Given the description of an element on the screen output the (x, y) to click on. 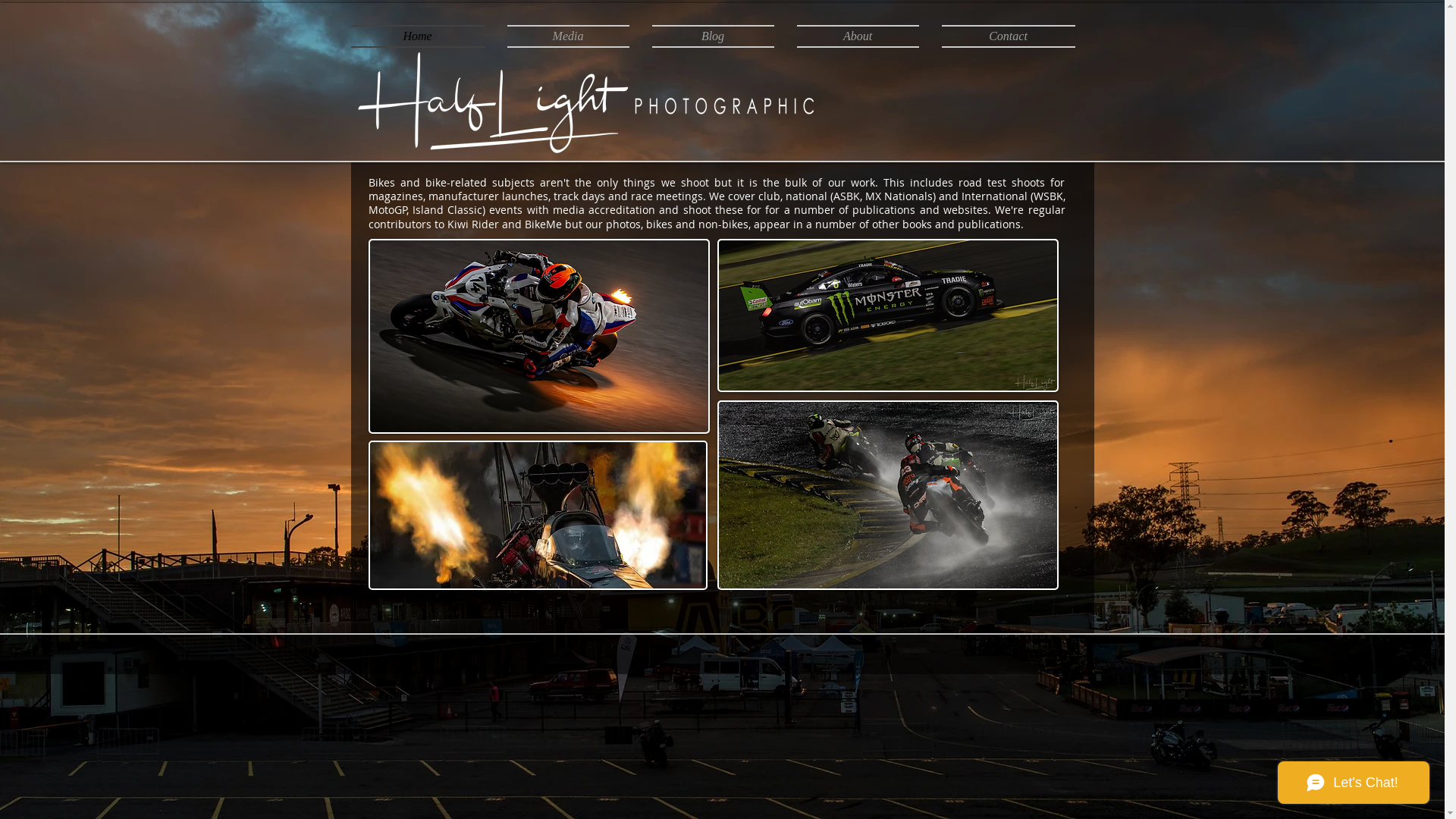
About Element type: text (857, 36)
Home Element type: text (422, 36)
Media Element type: text (567, 36)
Contact Element type: text (1001, 36)
Blog Element type: text (712, 36)
